Given the description of an element on the screen output the (x, y) to click on. 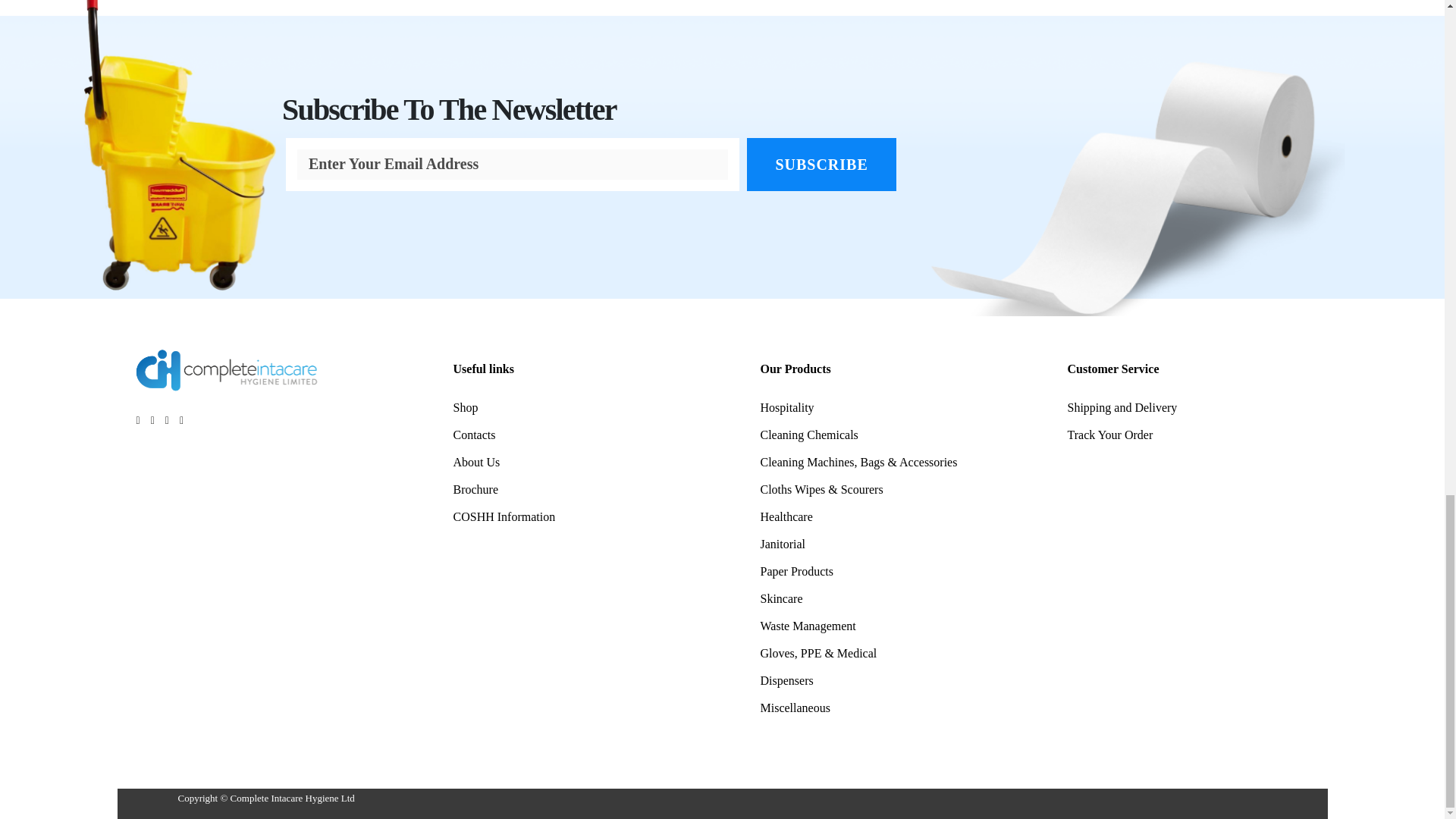
Subscribe (820, 164)
